Given the description of an element on the screen output the (x, y) to click on. 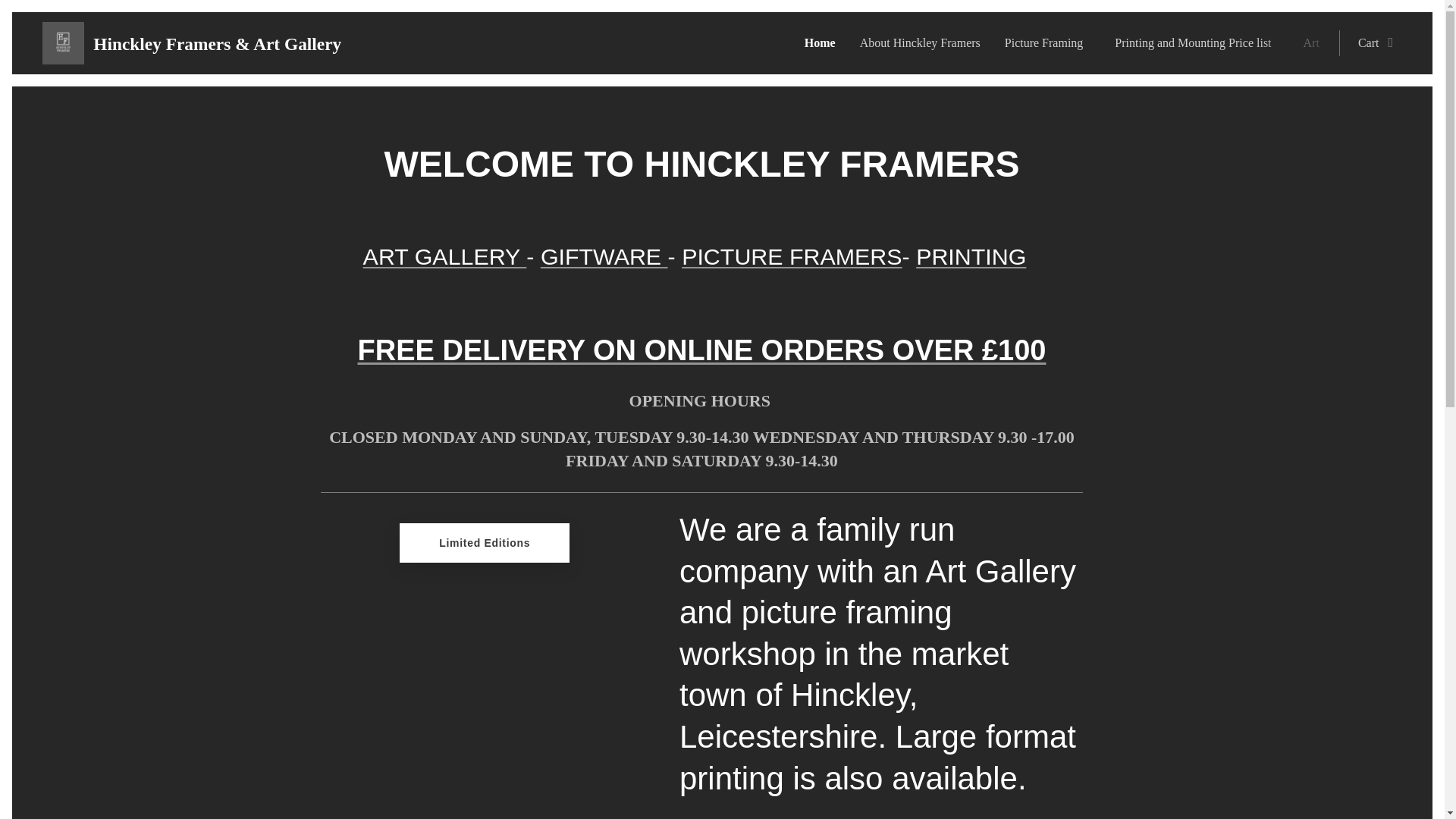
Art (1315, 43)
About Hinckley Framers (919, 43)
Cart (1370, 43)
PICTURE FRAMERS (791, 256)
Printing and Mounting Price list (1196, 43)
Home (823, 43)
PRINTING (970, 256)
GIFTWARE (603, 256)
ART GALLERY (443, 256)
Picture Framing (1047, 43)
